Given the description of an element on the screen output the (x, y) to click on. 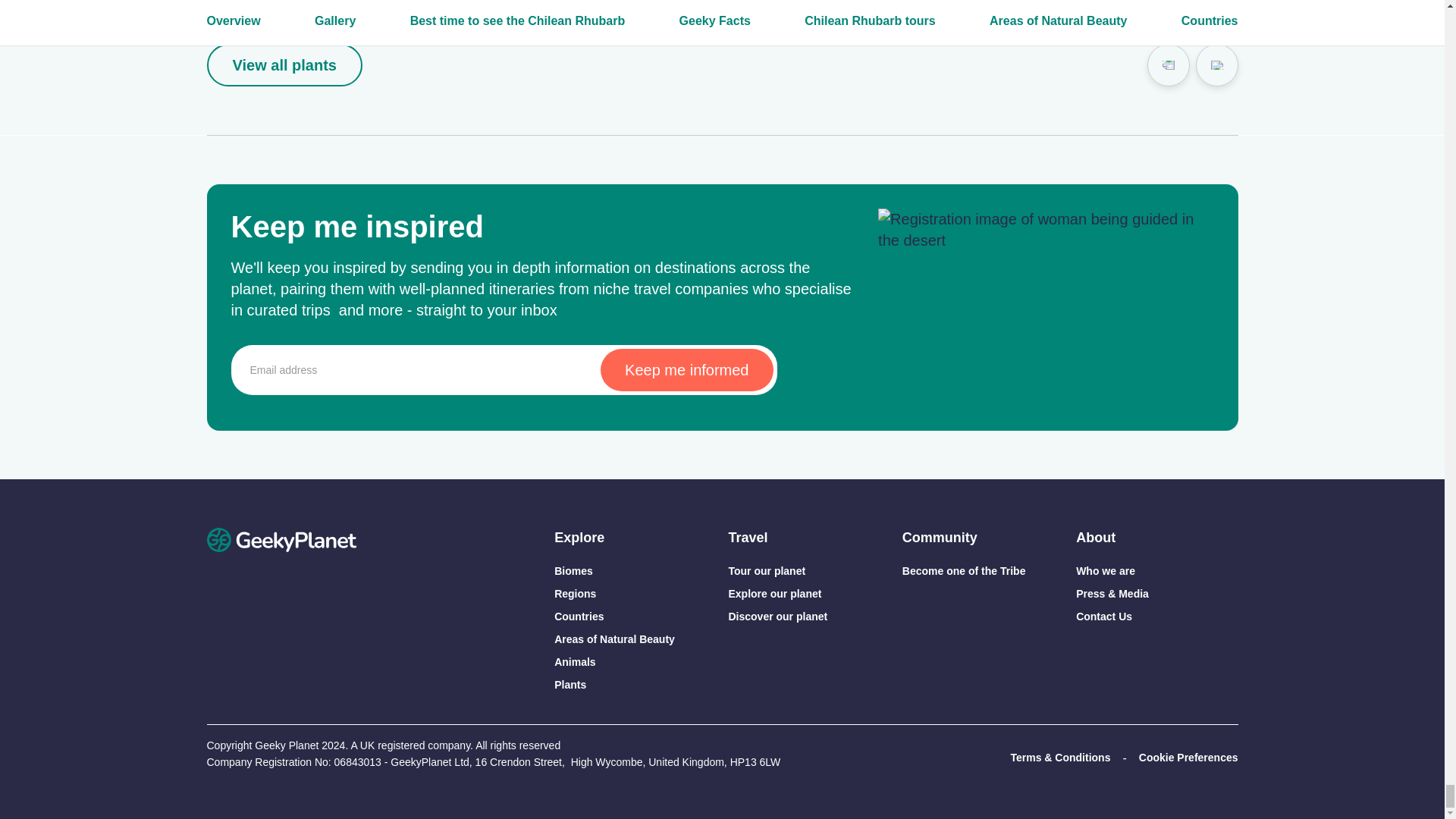
Keep me informed (686, 369)
